Given the description of an element on the screen output the (x, y) to click on. 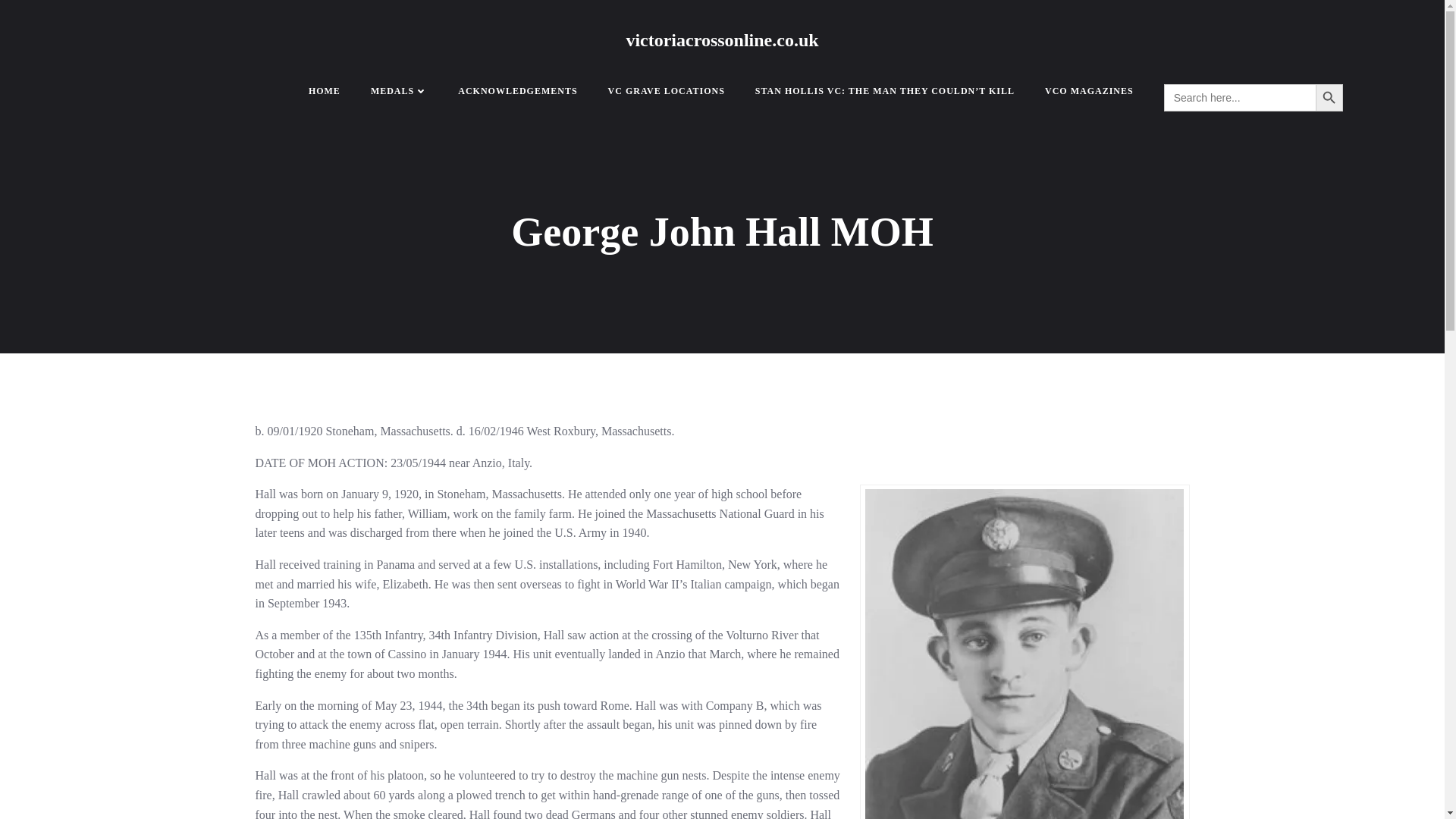
HOME (324, 90)
ACKNOWLEDGEMENTS (517, 90)
Search Button (1329, 97)
VC GRAVE LOCATIONS (666, 90)
victoriacrossonline.co.uk (722, 40)
MEDALS (399, 90)
VCO MAGAZINES (1089, 90)
